Given the description of an element on the screen output the (x, y) to click on. 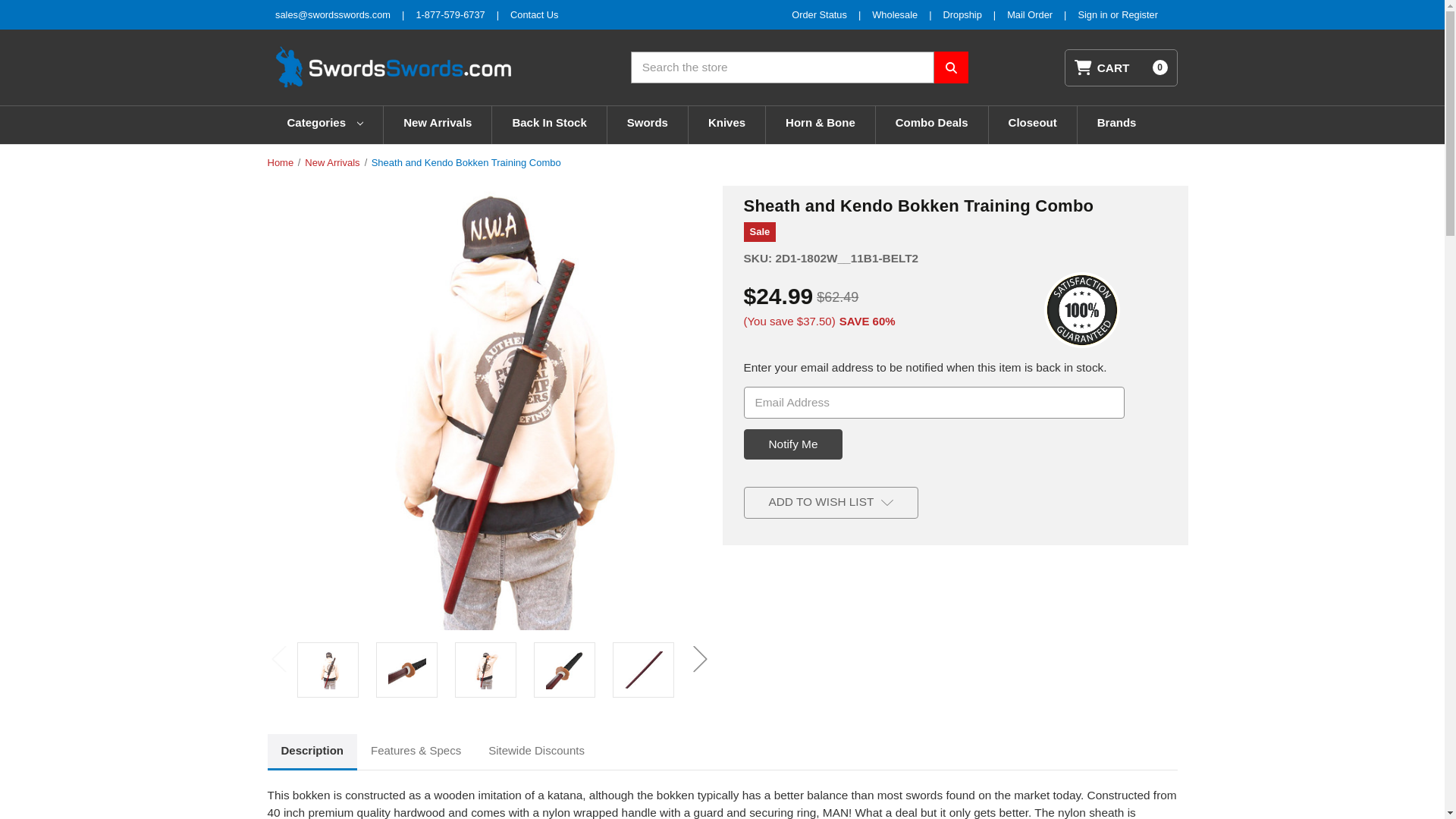
Contact Us (534, 14)
Email SwordsSwords (332, 14)
Mail Order (1029, 14)
Register (1139, 14)
Sign in (1093, 14)
Order Status (819, 14)
1-877-579-6737 (449, 14)
Wholesale Form (894, 14)
SwordsSwords.com (391, 67)
Dropship Form (962, 14)
